Given the description of an element on the screen output the (x, y) to click on. 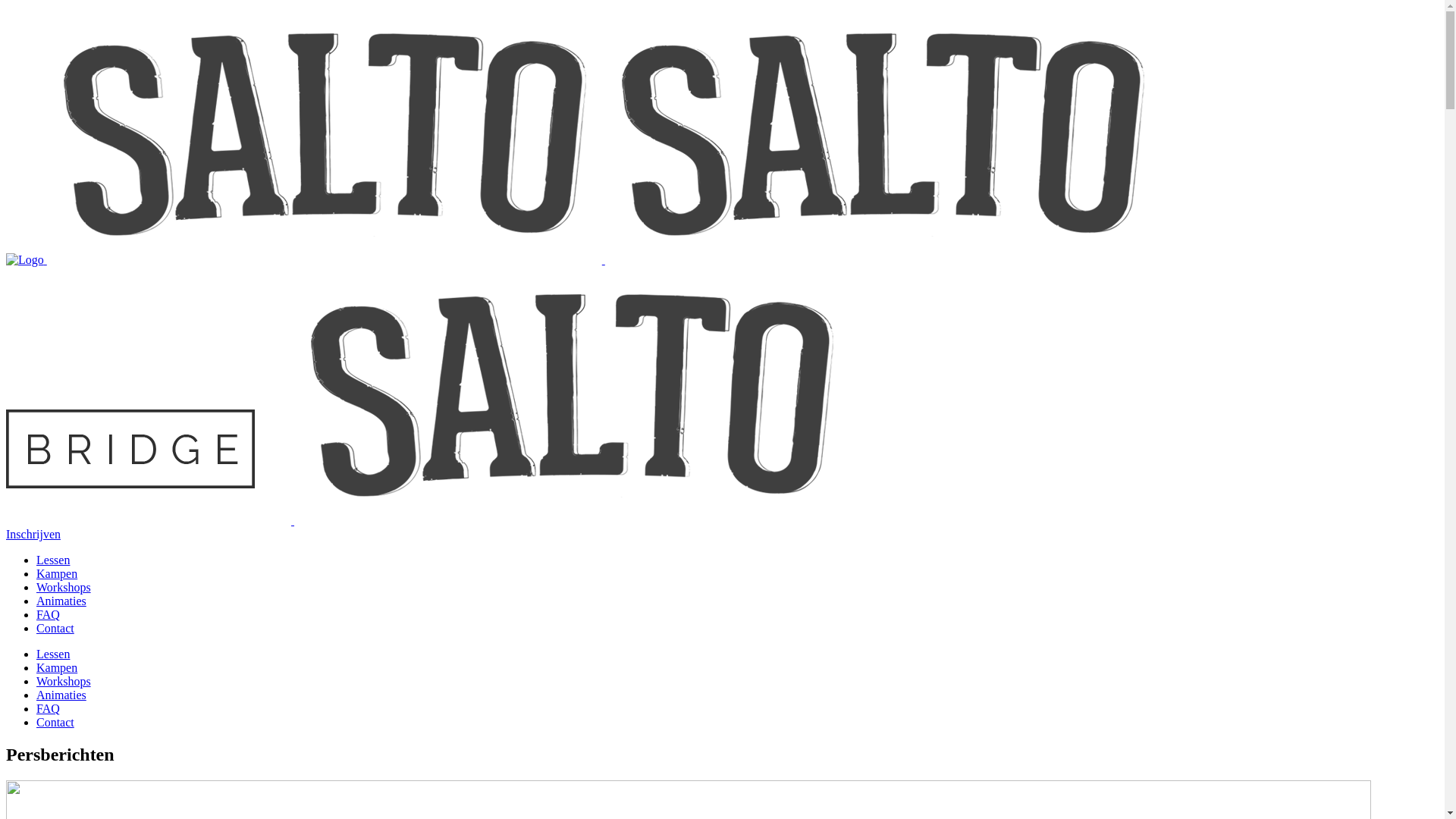
Contact Element type: text (55, 627)
Animaties Element type: text (61, 694)
FAQ Element type: text (47, 708)
Workshops Element type: text (63, 586)
FAQ Element type: text (47, 614)
Lessen Element type: text (52, 653)
Kampen Element type: text (56, 667)
Workshops Element type: text (63, 680)
Kampen Element type: text (56, 573)
Inschrijven Element type: text (33, 533)
Animaties Element type: text (61, 600)
Contact Element type: text (55, 721)
Lessen Element type: text (52, 559)
